Given the description of an element on the screen output the (x, y) to click on. 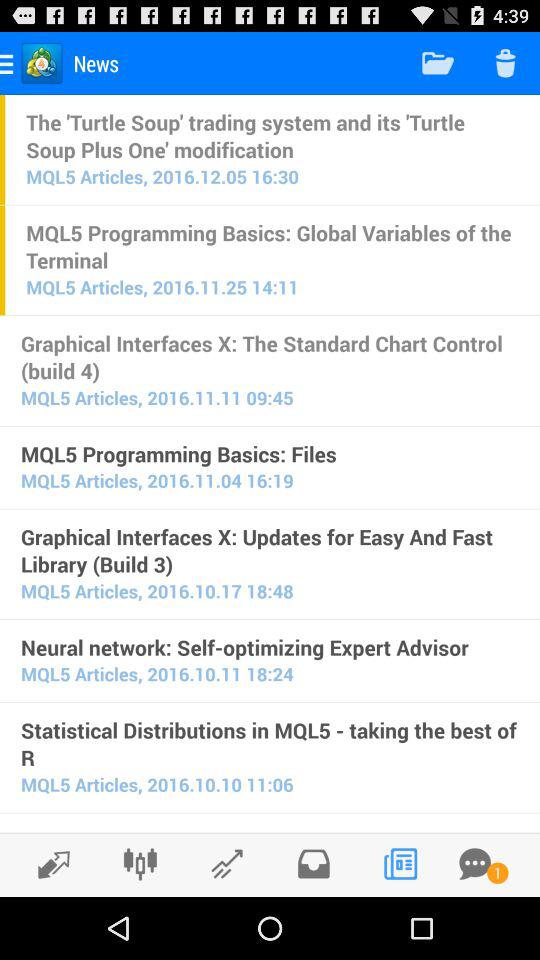
press the the turtle soup icon (272, 135)
